Given the description of an element on the screen output the (x, y) to click on. 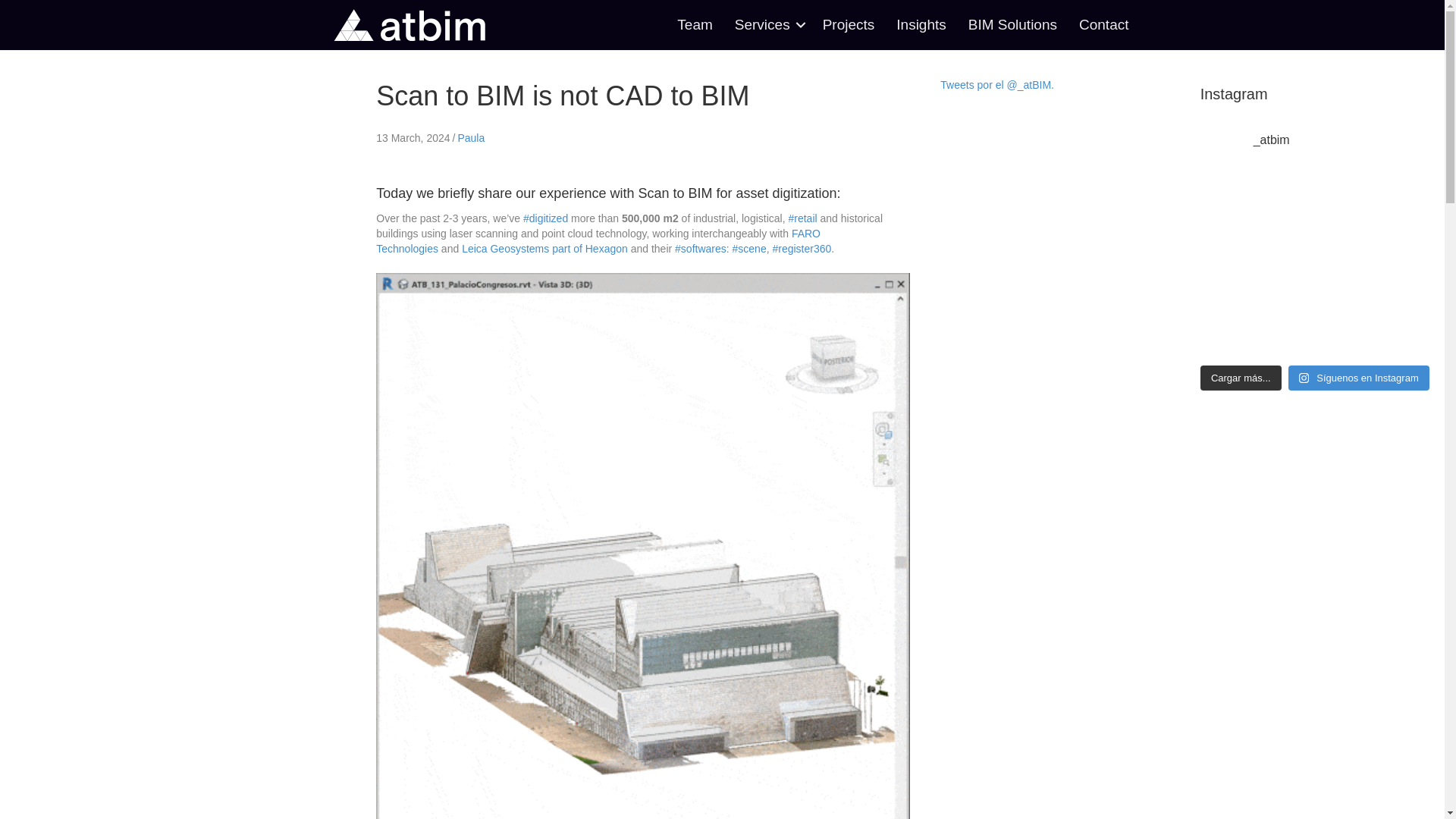
Leica Geosystems part of Hexagon (544, 248)
Services (766, 24)
Scan to BIM (674, 192)
Team (694, 24)
atBIM-logo-main-menu (408, 24)
BIM Solutions (1012, 24)
Contact (1103, 24)
Paula (470, 137)
FARO Technologies (598, 240)
Insights (920, 24)
